Given the description of an element on the screen output the (x, y) to click on. 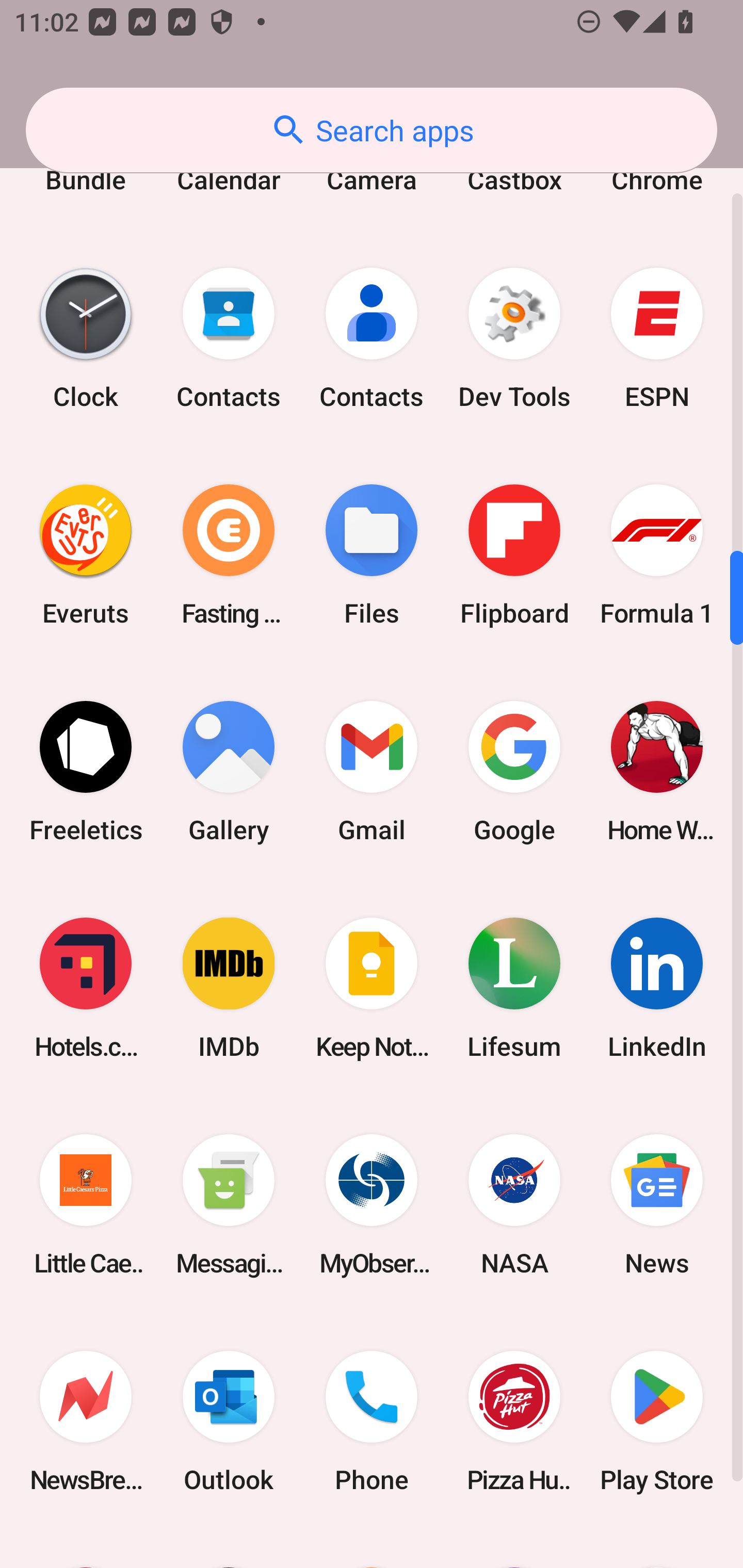
  Search apps (371, 130)
Clock (85, 338)
Contacts (228, 338)
Contacts (371, 338)
Dev Tools (514, 338)
ESPN (656, 338)
Everuts (85, 554)
Fasting Coach (228, 554)
Files (371, 554)
Flipboard (514, 554)
Formula 1 (656, 554)
Freeletics (85, 771)
Gallery (228, 771)
Gmail (371, 771)
Google (514, 771)
Home Workout (656, 771)
Hotels.com (85, 987)
IMDb (228, 987)
Keep Notes (371, 987)
Lifesum (514, 987)
LinkedIn (656, 987)
Little Caesars Pizza (85, 1204)
Messaging (228, 1204)
MyObservatory (371, 1204)
NASA (514, 1204)
News (656, 1204)
NewsBreak (85, 1421)
Outlook (228, 1421)
Phone (371, 1421)
Pizza Hut HK & Macau (514, 1421)
Play Store (656, 1421)
